Given the description of an element on the screen output the (x, y) to click on. 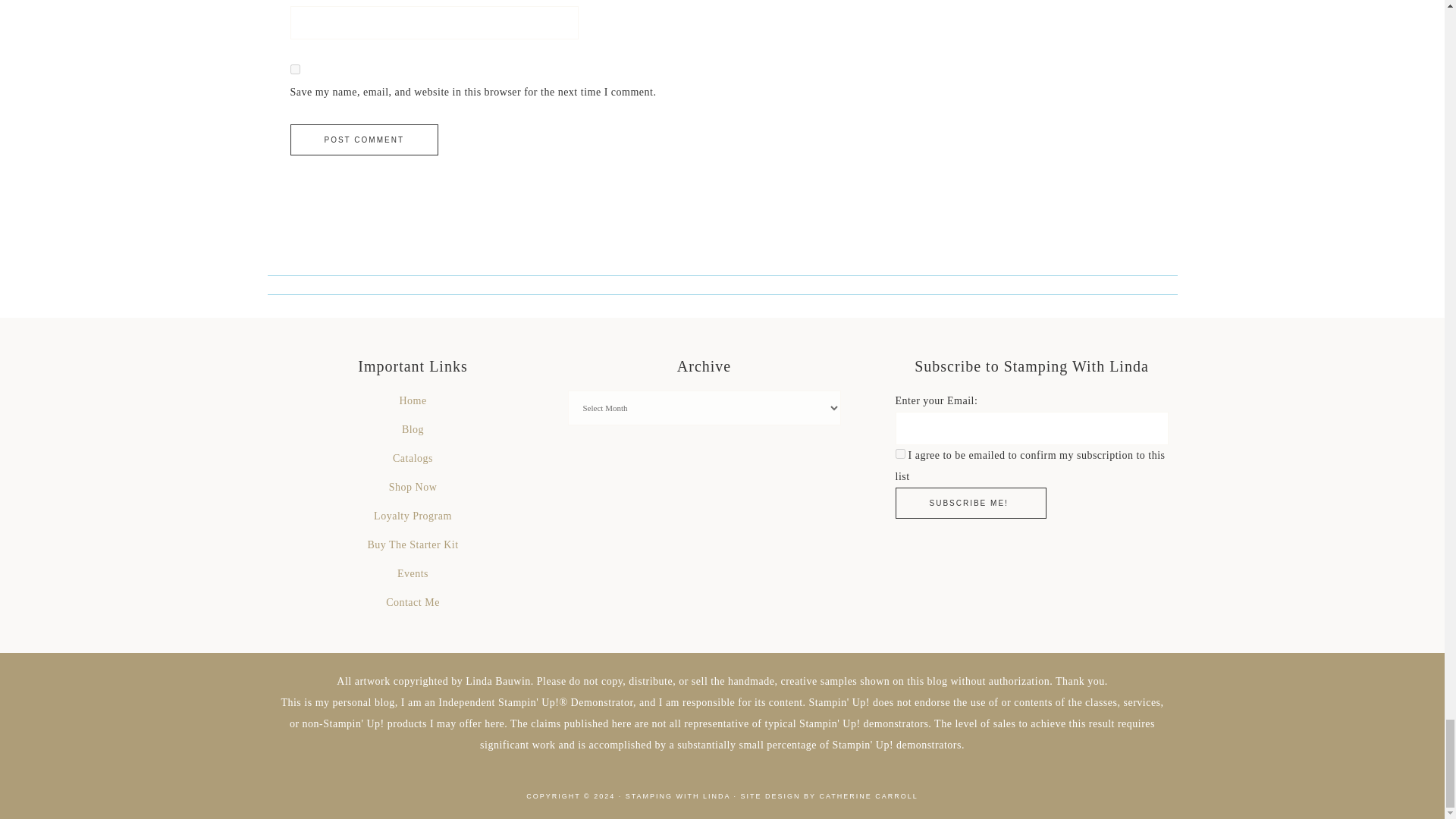
on (899, 453)
Subscribe me!  (970, 502)
yes (294, 69)
Post Comment (363, 139)
